Given the description of an element on the screen output the (x, y) to click on. 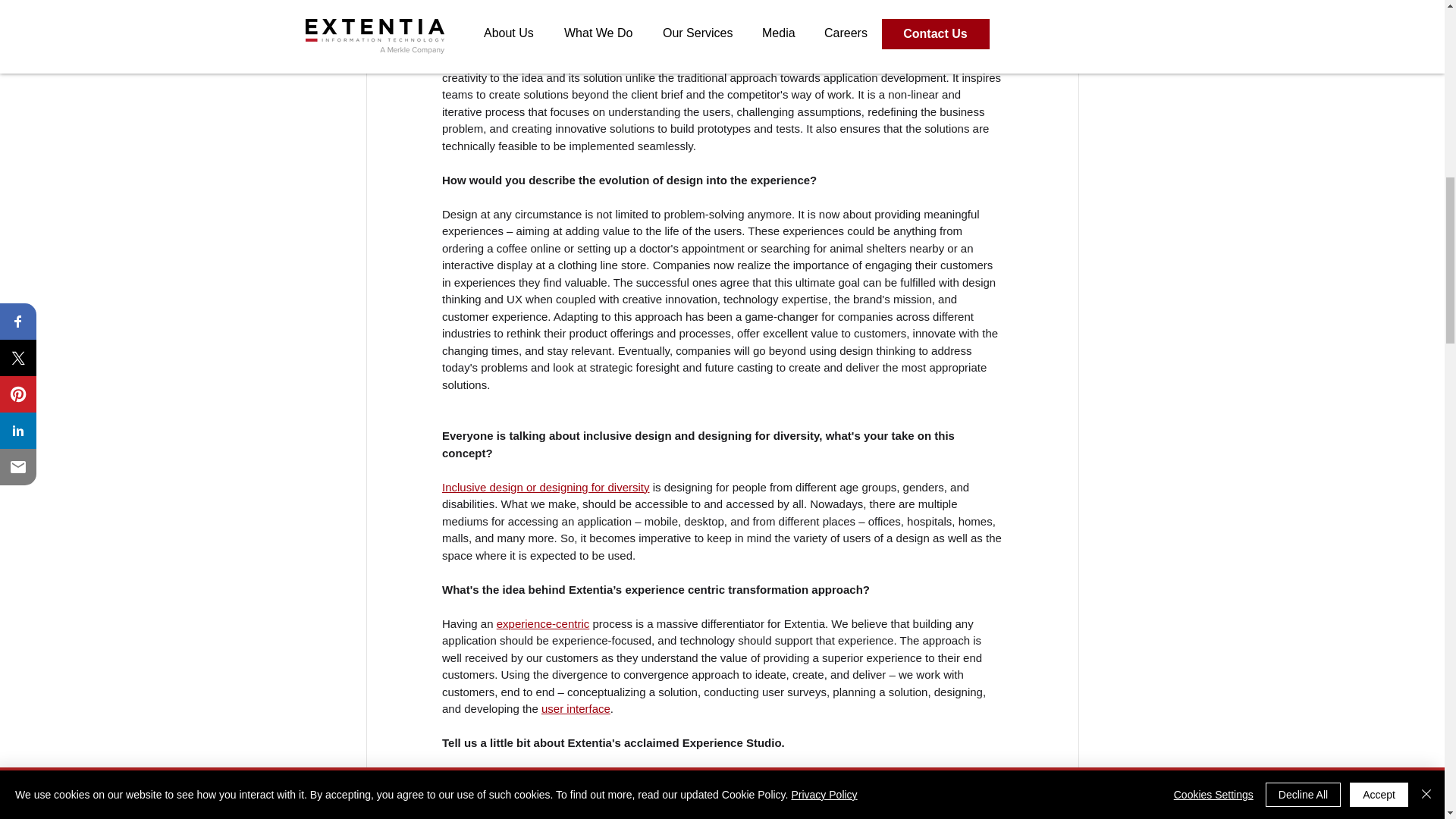
experience-centric (542, 623)
Inclusive design or designing for diversity (544, 486)
Experience Studio (510, 776)
user interface (575, 707)
